Given the description of an element on the screen output the (x, y) to click on. 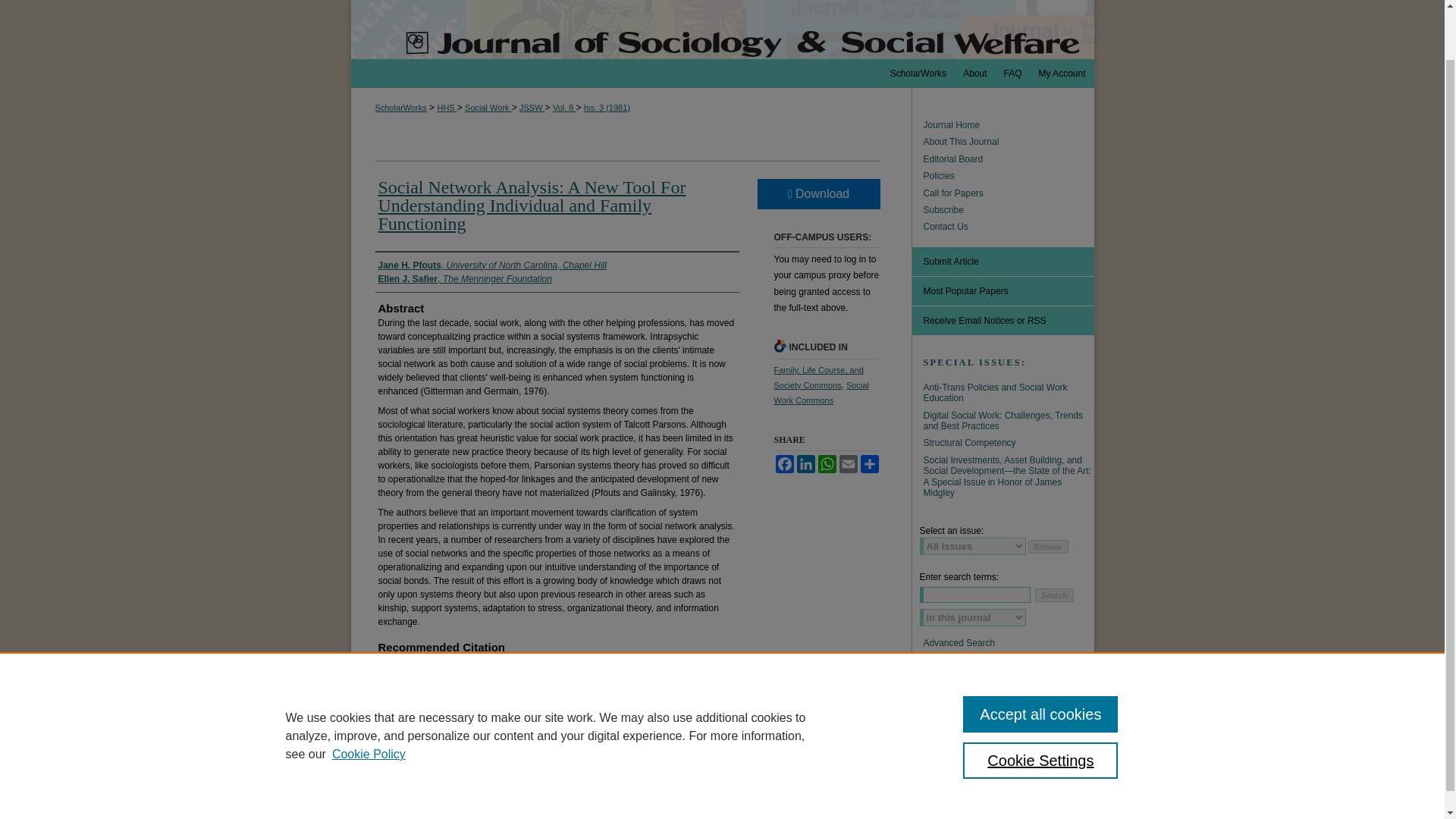
FAQ (1011, 72)
FAQ (1011, 72)
Email (848, 464)
About This Journal (1008, 141)
Ellen J. Safier, The Menninger Foundation (464, 278)
Vol. 8 (564, 107)
Download (818, 194)
About (974, 72)
Policies (1008, 175)
Jane H. Pfouts, University of North Carolina, Chapel Hill (491, 264)
Call for Papers (1008, 193)
Editorial Board (1008, 158)
Search (1054, 594)
Browse (1047, 546)
Social Work Commons (820, 392)
